Given the description of an element on the screen output the (x, y) to click on. 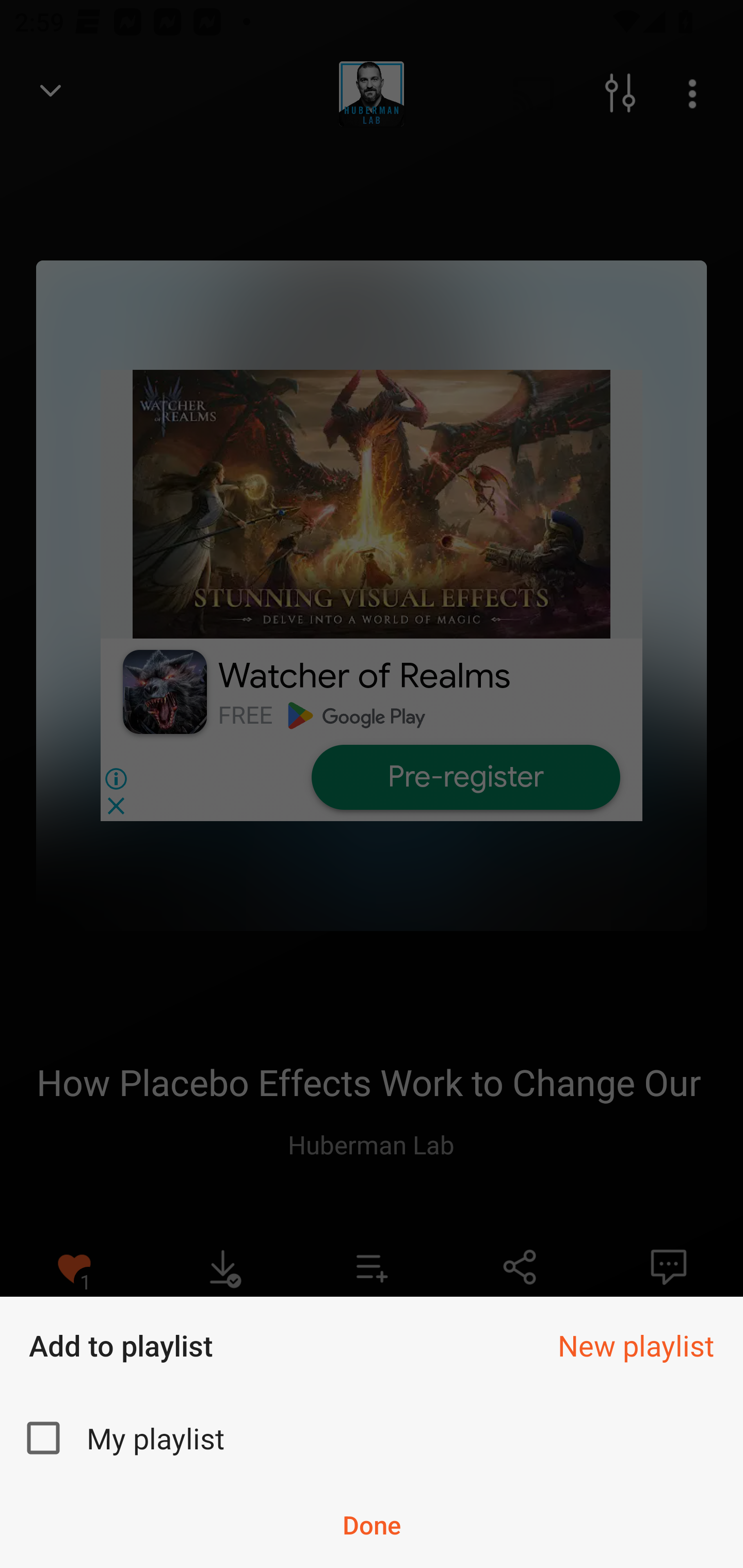
New playlist (636, 1344)
My playlist (371, 1437)
Done (371, 1524)
